Given the description of an element on the screen output the (x, y) to click on. 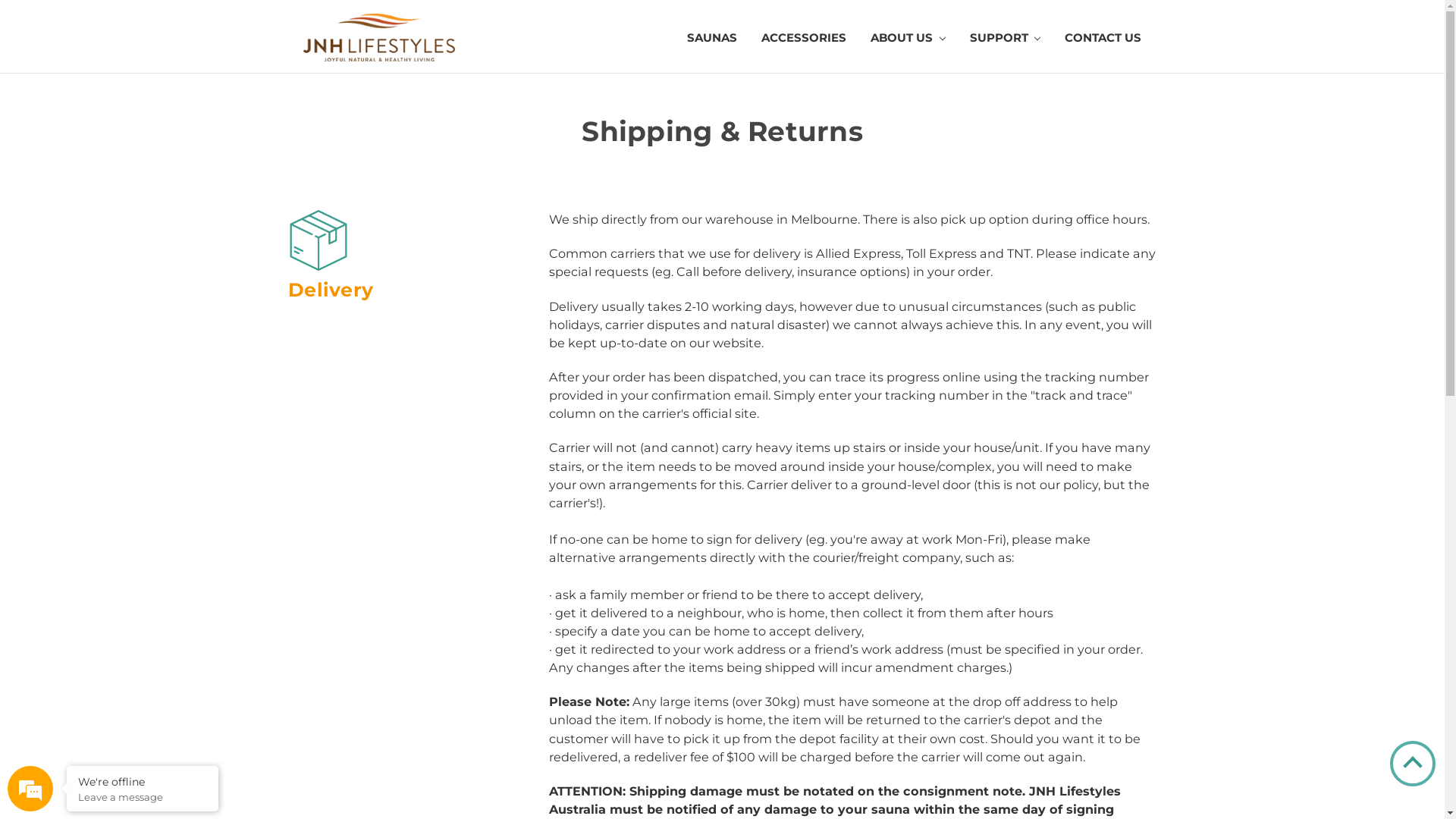
Delivery Element type: hover (318, 240)
Go to top Element type: hover (1412, 763)
SUPPORT Element type: text (1004, 39)
ABOUT US Element type: text (907, 39)
ACCESSORIES Element type: text (803, 39)
SAUNAS Element type: text (711, 39)
CONTACT US Element type: text (1096, 39)
JNH Lifestyles Element type: hover (379, 37)
